Given the description of an element on the screen output the (x, y) to click on. 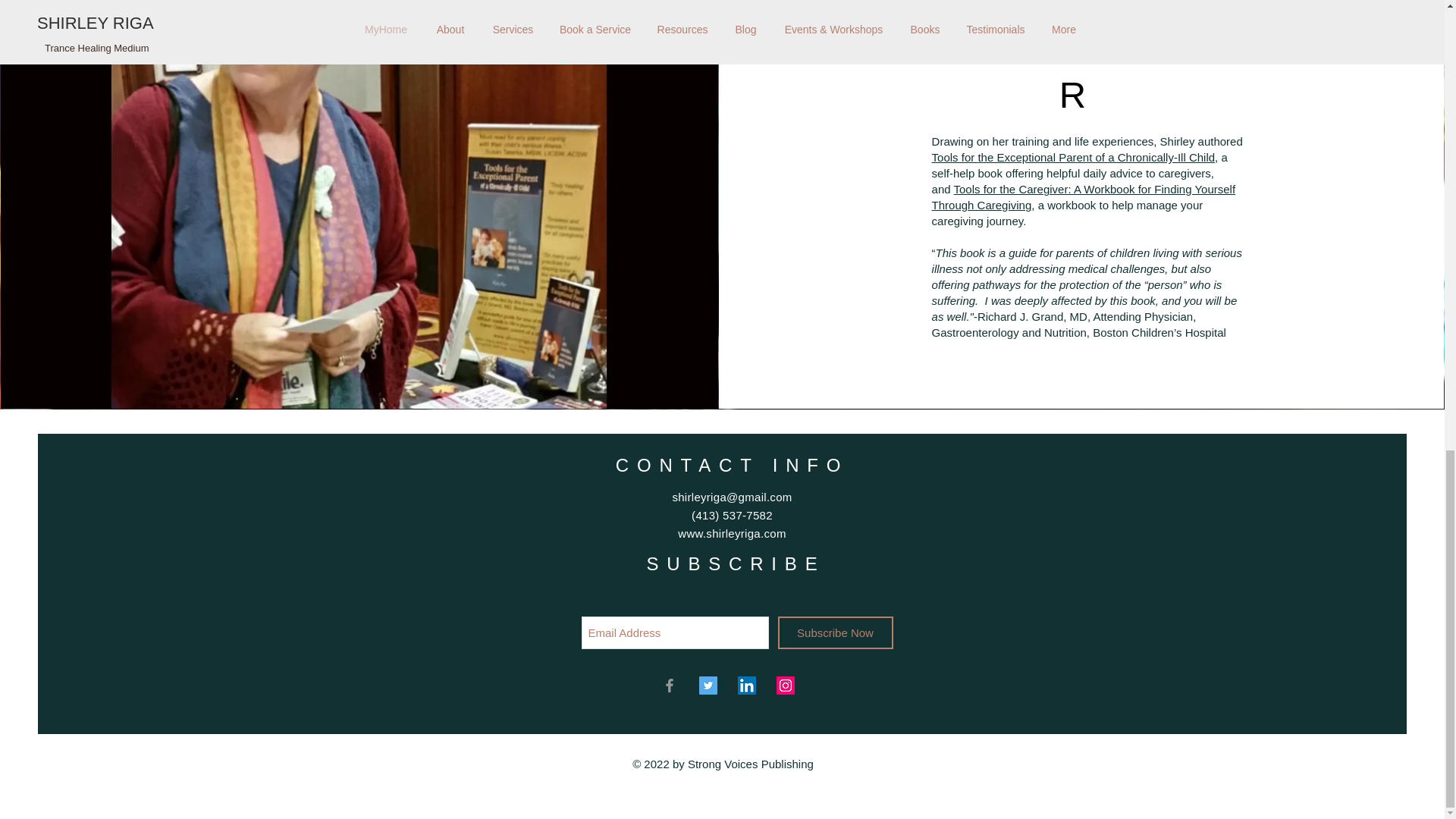
www.shirleyriga.com (732, 533)
Subscribe Now (835, 632)
Tools for the Exceptional Parent of a Chronically-Ill Child (1073, 156)
